Given the description of an element on the screen output the (x, y) to click on. 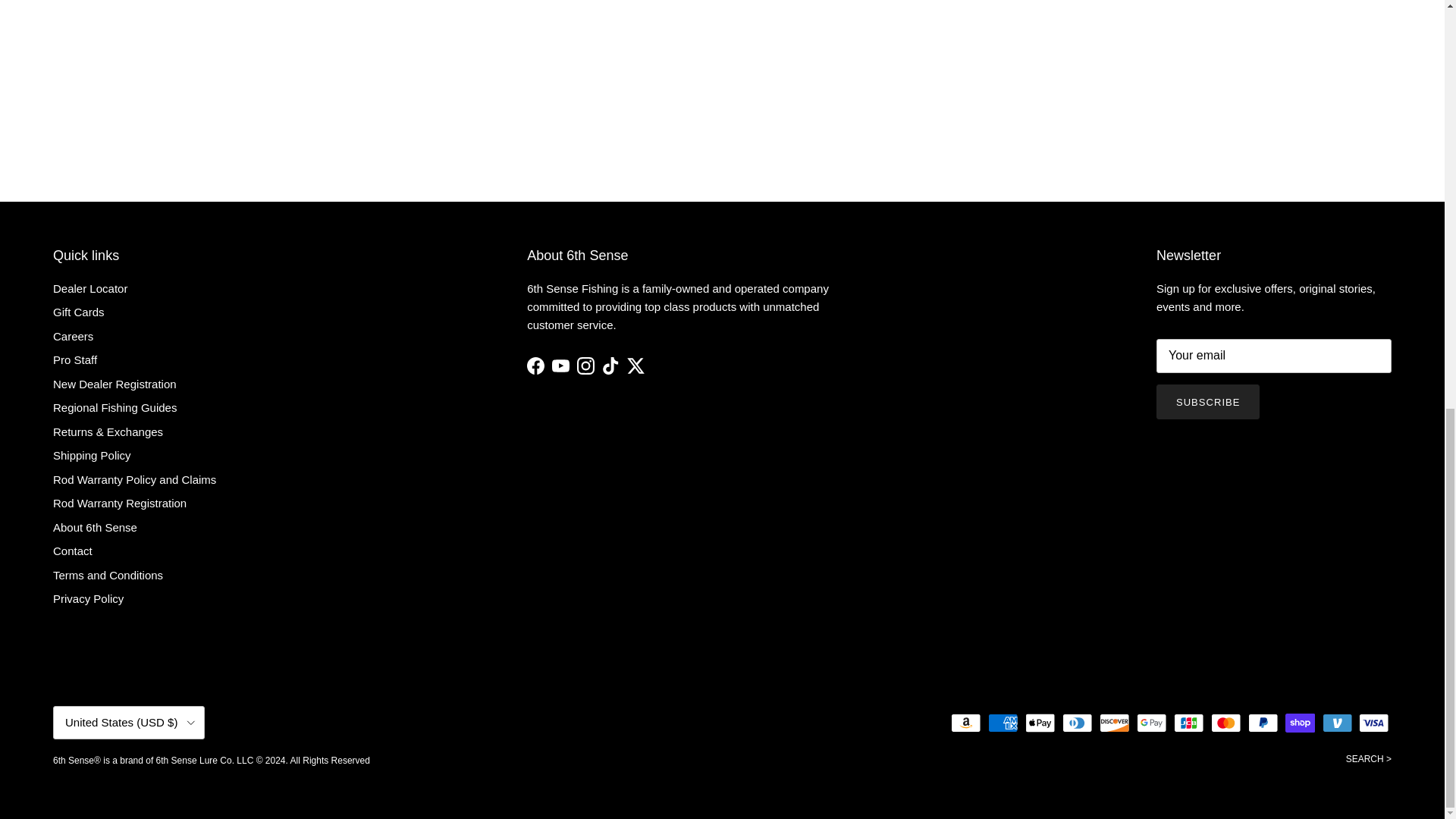
Discover (1114, 722)
6th Sense Fishing on YouTube (560, 365)
6th Sense Fishing on Twitter (636, 365)
Mastercard (1225, 722)
6th Sense Fishing on TikTok (611, 365)
JCB (1188, 722)
Apple Pay (1040, 722)
6th Sense Fishing on Facebook (535, 365)
Venmo (1337, 722)
Amazon (965, 722)
